Given the description of an element on the screen output the (x, y) to click on. 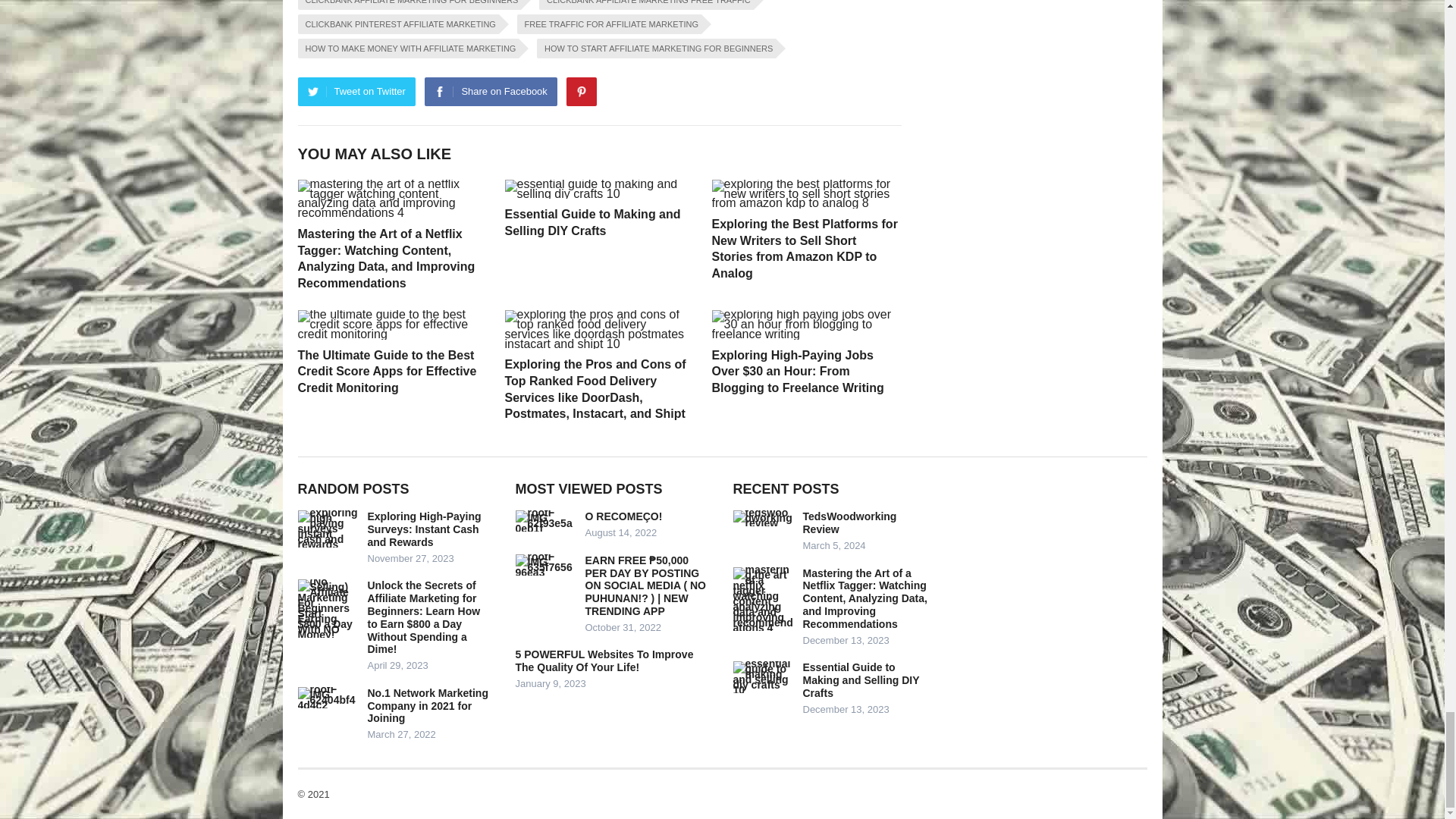
Essential Guide to Making and Selling DIY Crafts 4 (599, 189)
